Given the description of an element on the screen output the (x, y) to click on. 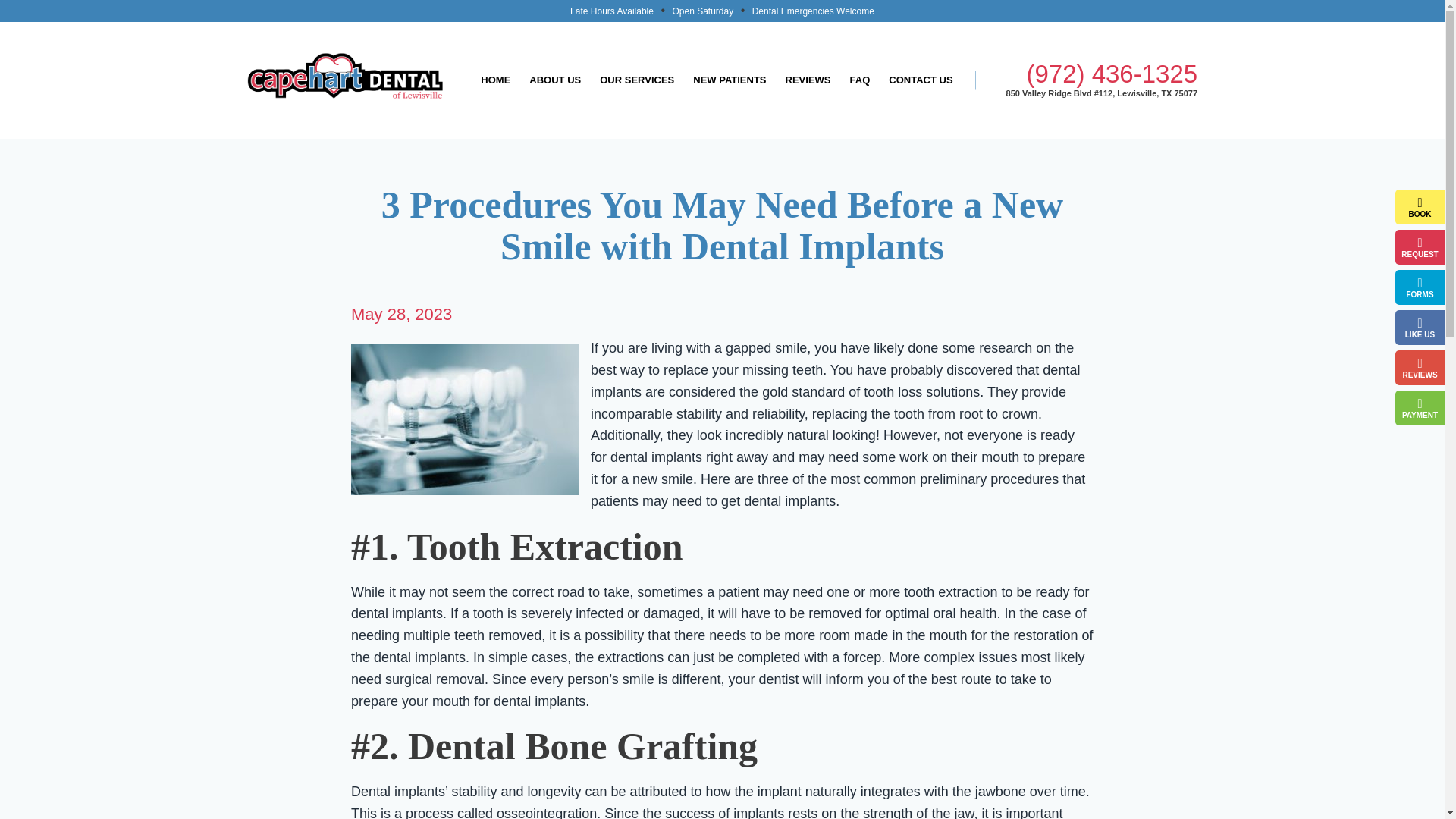
OUR SERVICES (636, 80)
Late Hours Available (612, 10)
ABOUT US (554, 80)
Open Saturday (702, 10)
HOME (495, 80)
Dental Emergencies Welcome (812, 10)
